Given the description of an element on the screen output the (x, y) to click on. 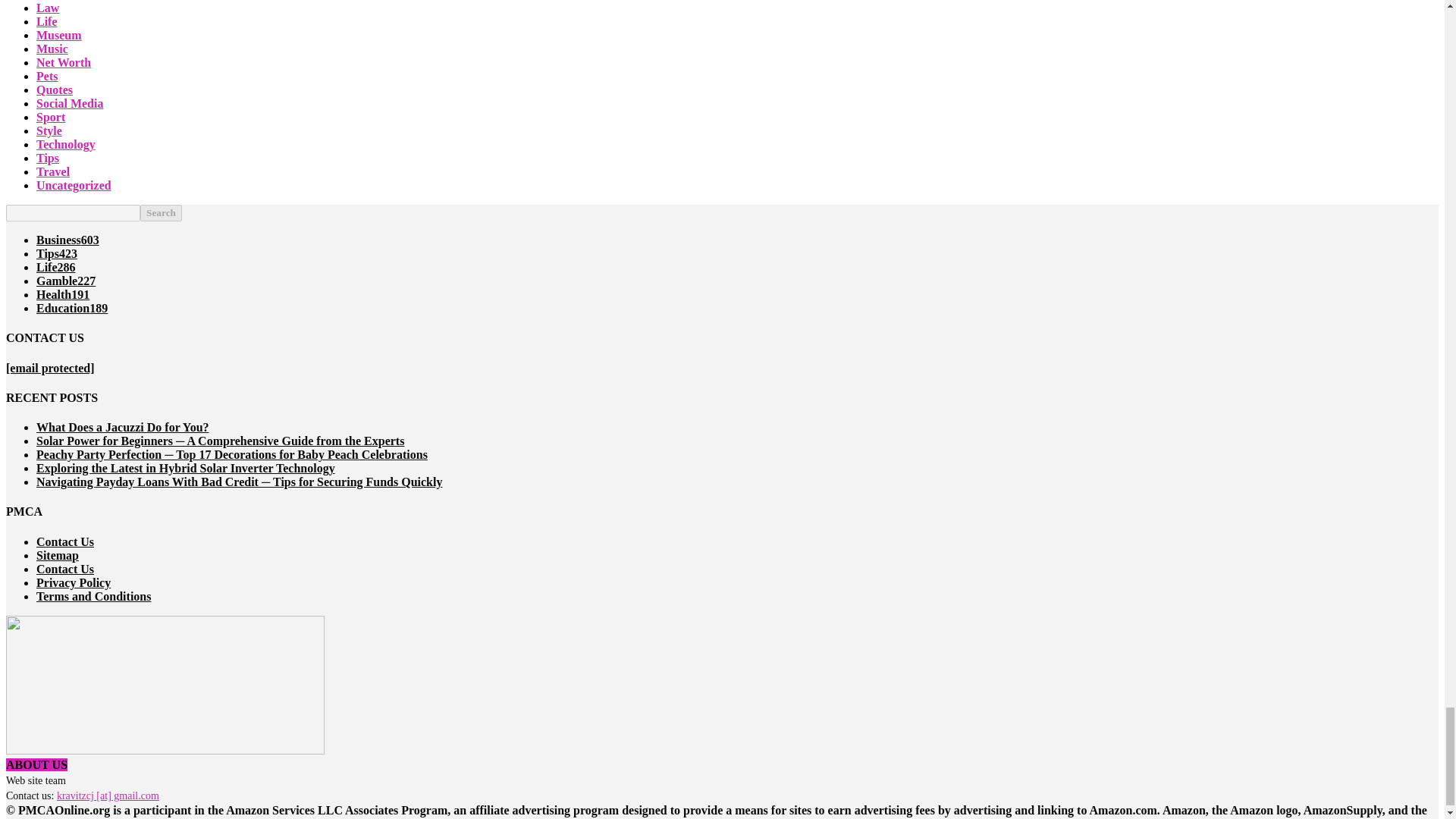
Search (160, 212)
